Given the description of an element on the screen output the (x, y) to click on. 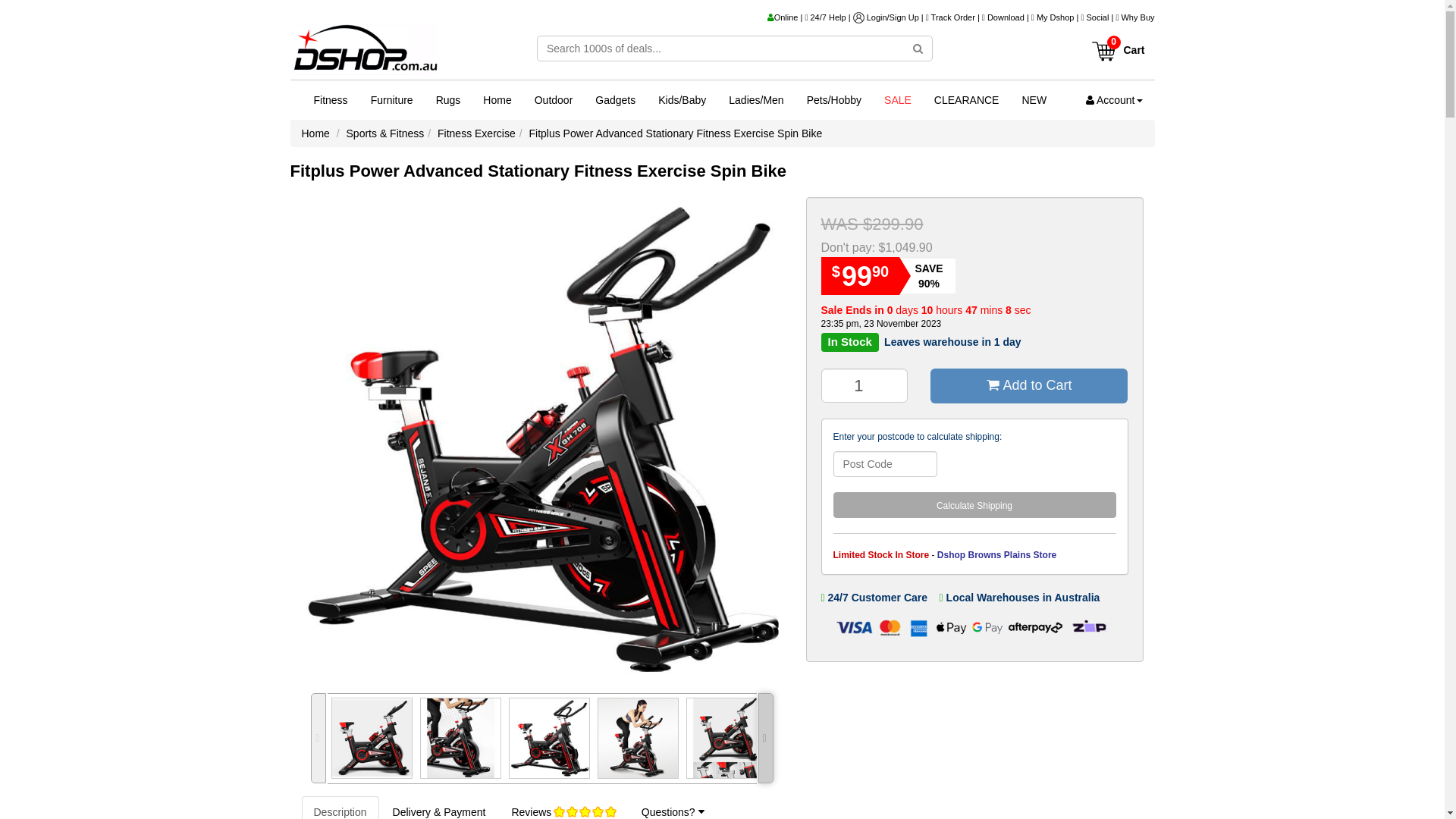
Social Element type: text (1096, 16)
Gadgets Element type: text (614, 100)
Fitness Exercise Element type: text (476, 133)
Pets/Hobby Element type: text (833, 100)
Why Buy Element type: text (1137, 16)
Kids/Baby Element type: text (681, 100)
Ladies/Men Element type: text (755, 100)
NEW Element type: text (1033, 100)
0 Cart Element type: text (1117, 45)
Download Element type: text (1005, 16)
Online Element type: text (782, 16)
Home Element type: text (315, 133)
Fitness Element type: text (329, 100)
Home Element type: text (496, 100)
Rugs Element type: text (448, 100)
24/7 Help Element type: text (827, 16)
Login/Sign Up Element type: text (892, 16)
SALE Element type: text (897, 100)
Track Order Element type: text (953, 16)
Outdoor Element type: text (553, 100)
Fitplus Power Advanced Stationary Fitness Exercise Spin Bike Element type: text (675, 133)
Search Element type: text (917, 48)
Dshop Browns Plains Store Element type: text (996, 554)
My Dshop Element type: text (1055, 16)
Furniture Element type: text (391, 100)
Calculate Shipping Element type: text (973, 504)
Account Element type: text (1114, 100)
Dshop Element type: hover (364, 52)
Sports & Fitness Element type: text (385, 133)
CLEARANCE Element type: text (966, 100)
Add to Cart Element type: text (1028, 385)
